Given the description of an element on the screen output the (x, y) to click on. 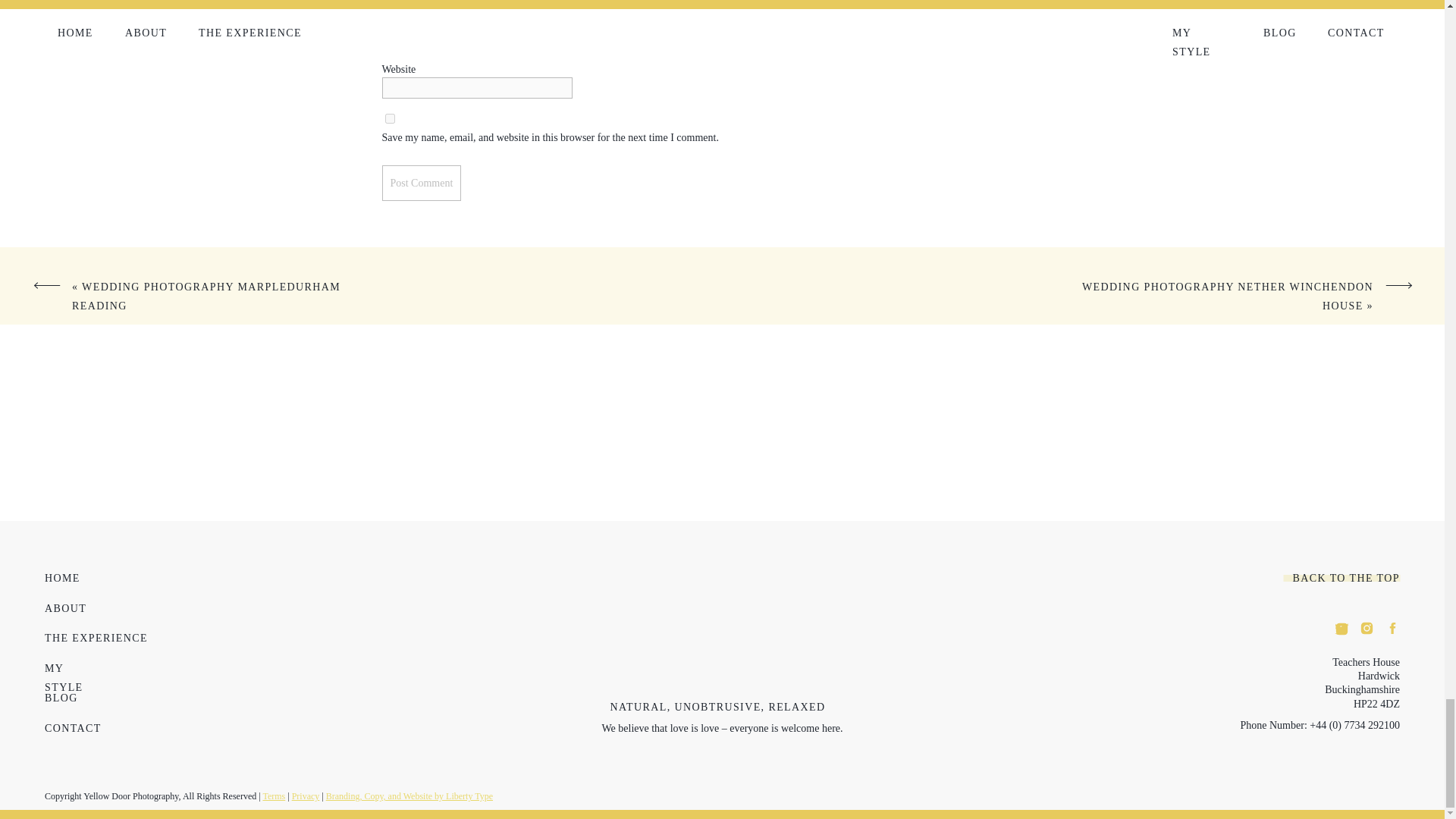
yes (389, 118)
Privacy (306, 796)
Branding, Copy, and Website by Liberty Type (409, 796)
Post Comment (421, 182)
ABOUT (66, 605)
BACK TO THE TOP (1334, 575)
MY STYLE (74, 666)
WEDDING PHOTOGRAPHY MARPLEDURHAM READING (205, 296)
CONTACT (74, 726)
THE EXPERIENCE (99, 635)
HOME (63, 575)
Post Comment (421, 182)
Terms (273, 796)
WEDDING PHOTOGRAPHY NETHER WINCHENDON HOUSE (1227, 296)
BLOG (62, 695)
